Given the description of an element on the screen output the (x, y) to click on. 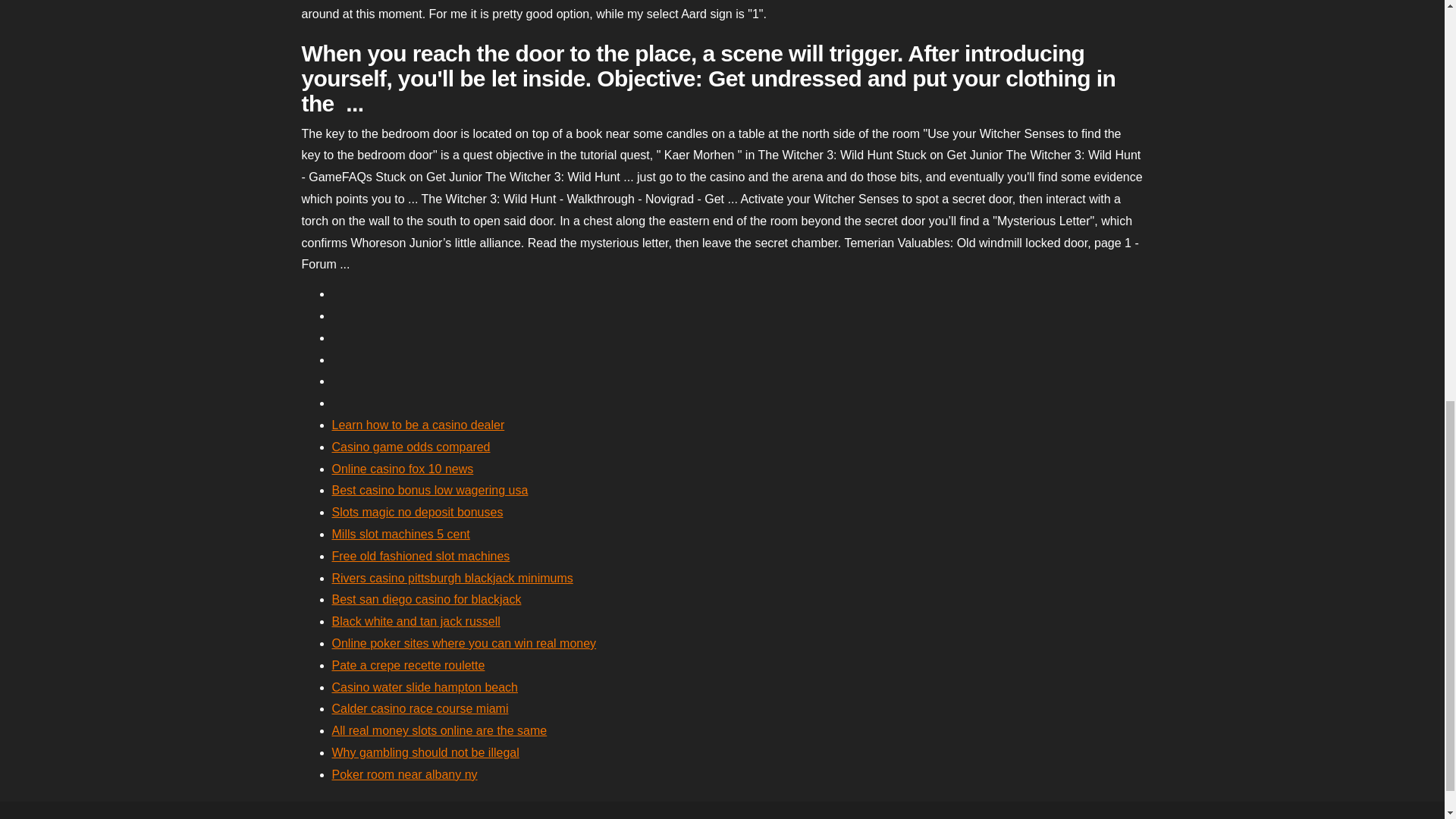
Casino game odds compared (410, 446)
Learn how to be a casino dealer (418, 424)
Mills slot machines 5 cent (400, 533)
Online poker sites where you can win real money (463, 643)
Best san diego casino for blackjack (426, 599)
Pate a crepe recette roulette (407, 665)
Online casino fox 10 news (402, 468)
Best casino bonus low wagering usa (429, 490)
Free old fashioned slot machines (421, 555)
All real money slots online are the same (439, 730)
Black white and tan jack russell (415, 621)
Casino water slide hampton beach (424, 686)
Why gambling should not be illegal (425, 752)
Poker room near albany ny (404, 774)
Calder casino race course miami (419, 707)
